Given the description of an element on the screen output the (x, y) to click on. 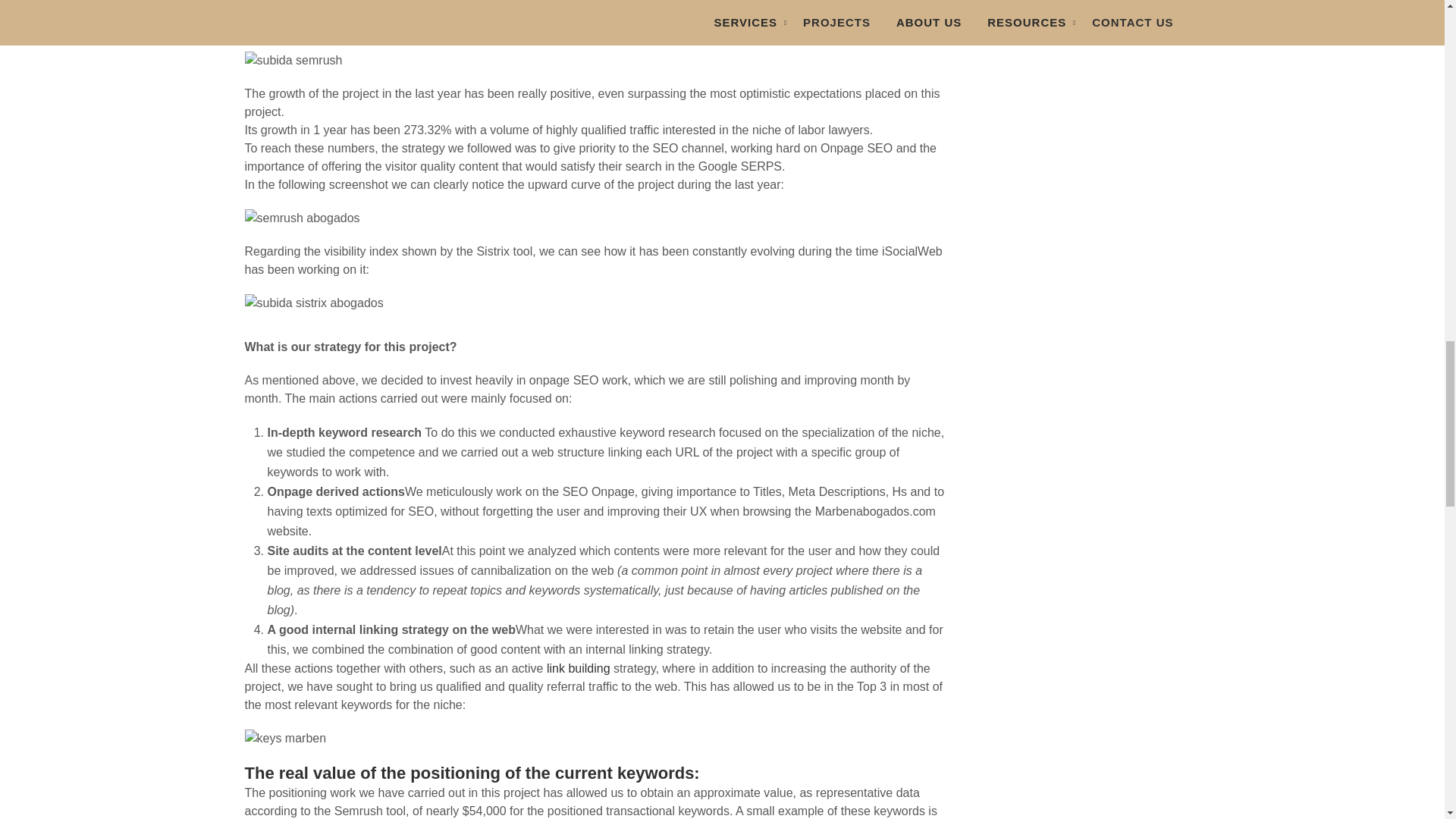
marben (594, 303)
link building (578, 667)
keys marbenabogados (594, 738)
marbena semrush (594, 218)
